Given the description of an element on the screen output the (x, y) to click on. 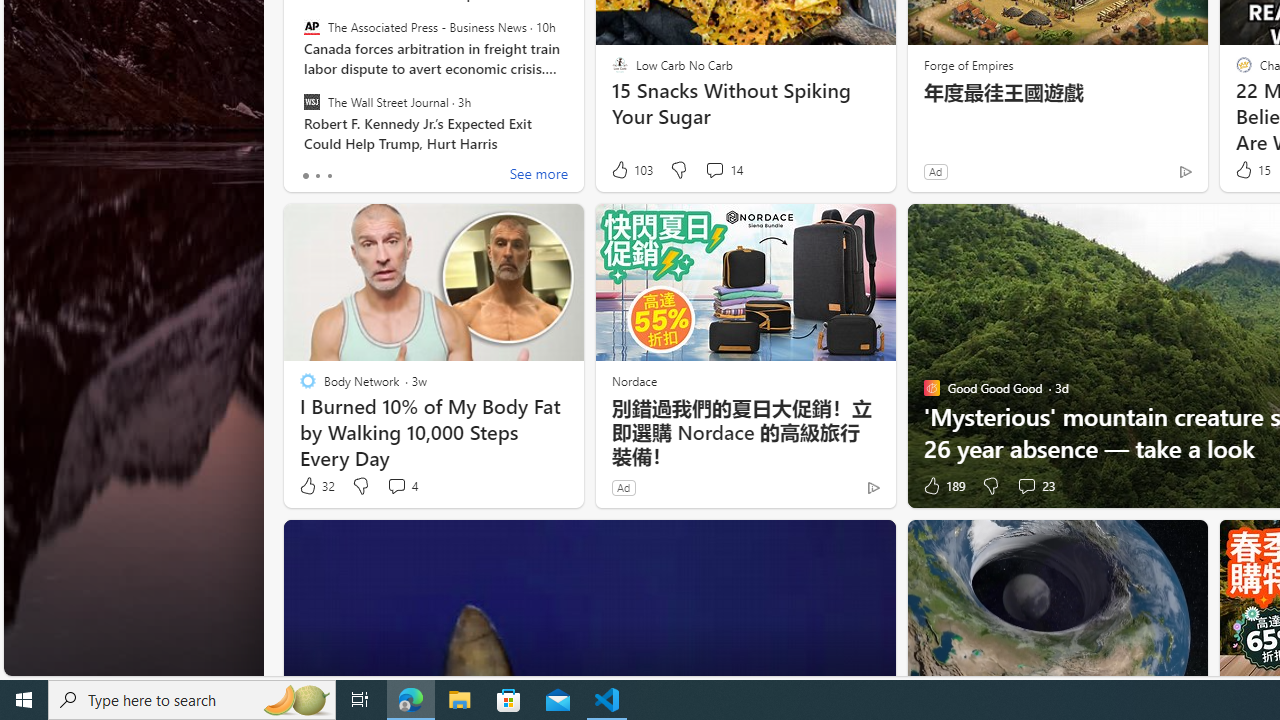
View comments 4 Comment (396, 485)
View comments 23 Comment (1035, 485)
tab-2 (328, 175)
Forge of Empires (967, 64)
tab-1 (317, 175)
View comments 14 Comment (714, 169)
32 Like (316, 485)
103 Like (630, 170)
